Given the description of an element on the screen output the (x, y) to click on. 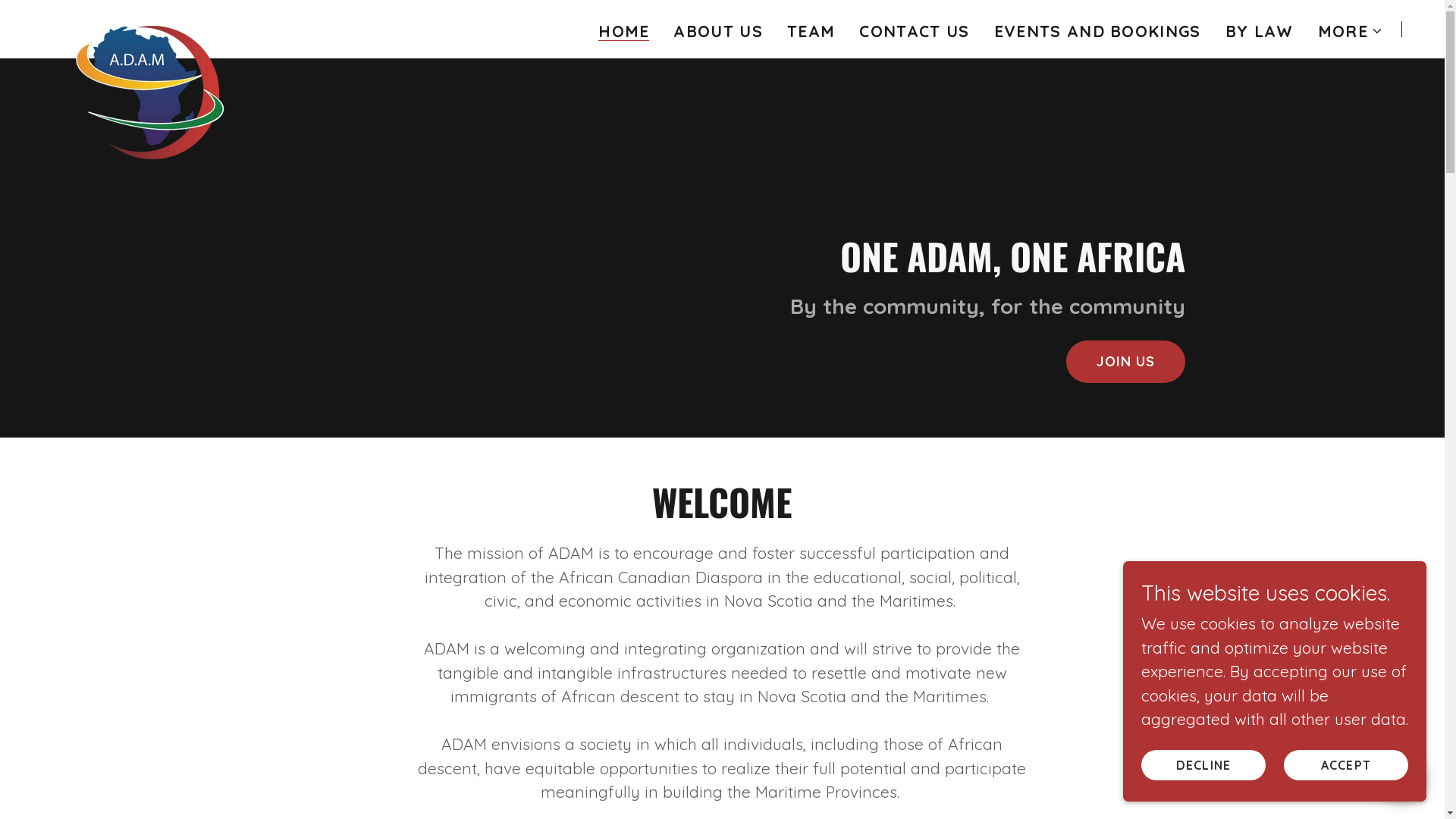
DECLINE Element type: text (1203, 764)
EVENTS AND BOOKINGS Element type: text (1097, 30)
CONTACT US Element type: text (913, 30)
African Diaspora Association of the Maritimes Element type: hover (151, 26)
HOME Element type: text (623, 30)
TEAM Element type: text (810, 30)
JOIN US Element type: text (1126, 361)
MORE Element type: text (1350, 30)
BY LAW Element type: text (1259, 30)
ACCEPT Element type: text (1345, 764)
ABOUT US Element type: text (717, 30)
